Given the description of an element on the screen output the (x, y) to click on. 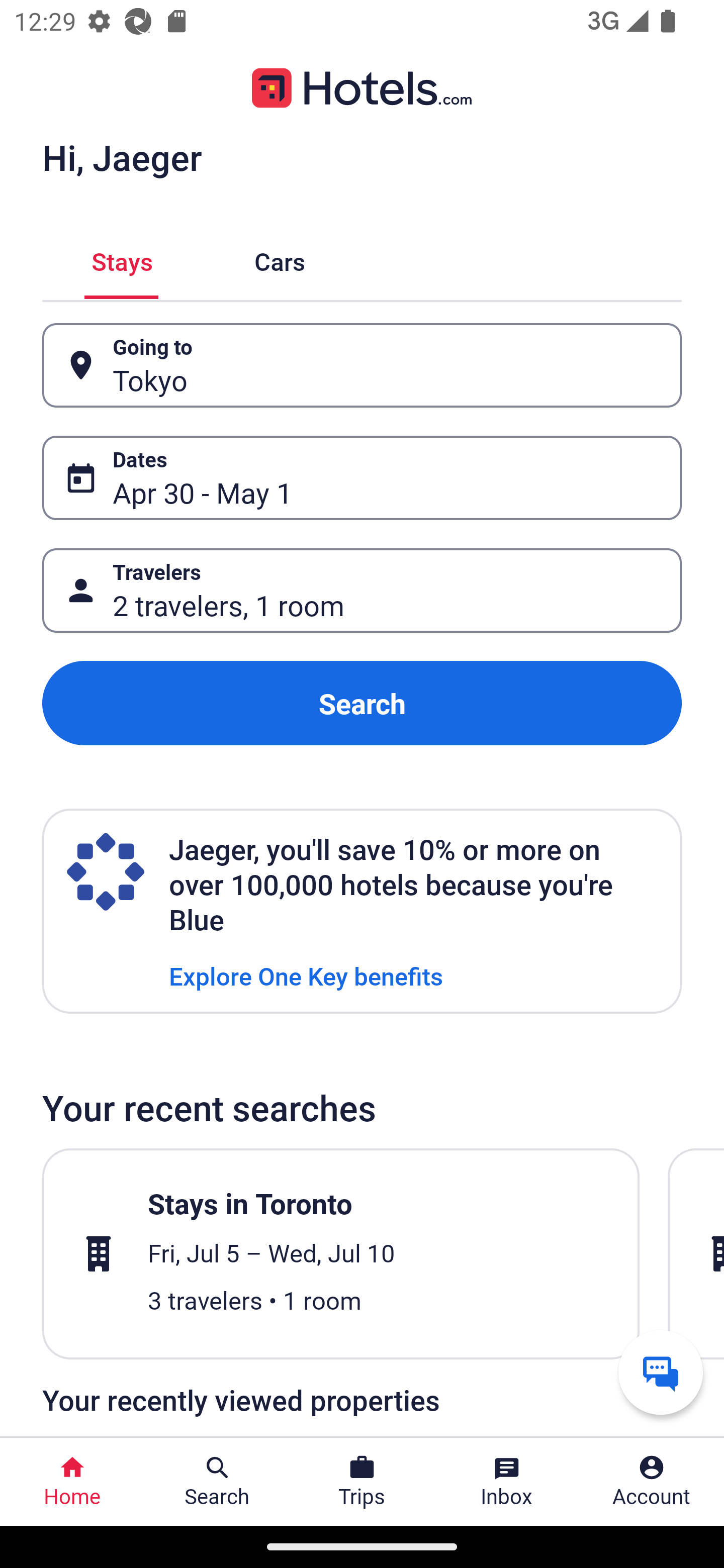
Hi, Jaeger (121, 156)
Cars (279, 259)
Going to Button Tokyo (361, 365)
Dates Button Apr 30 - May 1 (361, 477)
Travelers Button 2 travelers, 1 room (361, 590)
Search (361, 702)
Get help from a virtual agent (660, 1371)
Search Search Button (216, 1481)
Trips Trips Button (361, 1481)
Inbox Inbox Button (506, 1481)
Account Profile. Button (651, 1481)
